Given the description of an element on the screen output the (x, y) to click on. 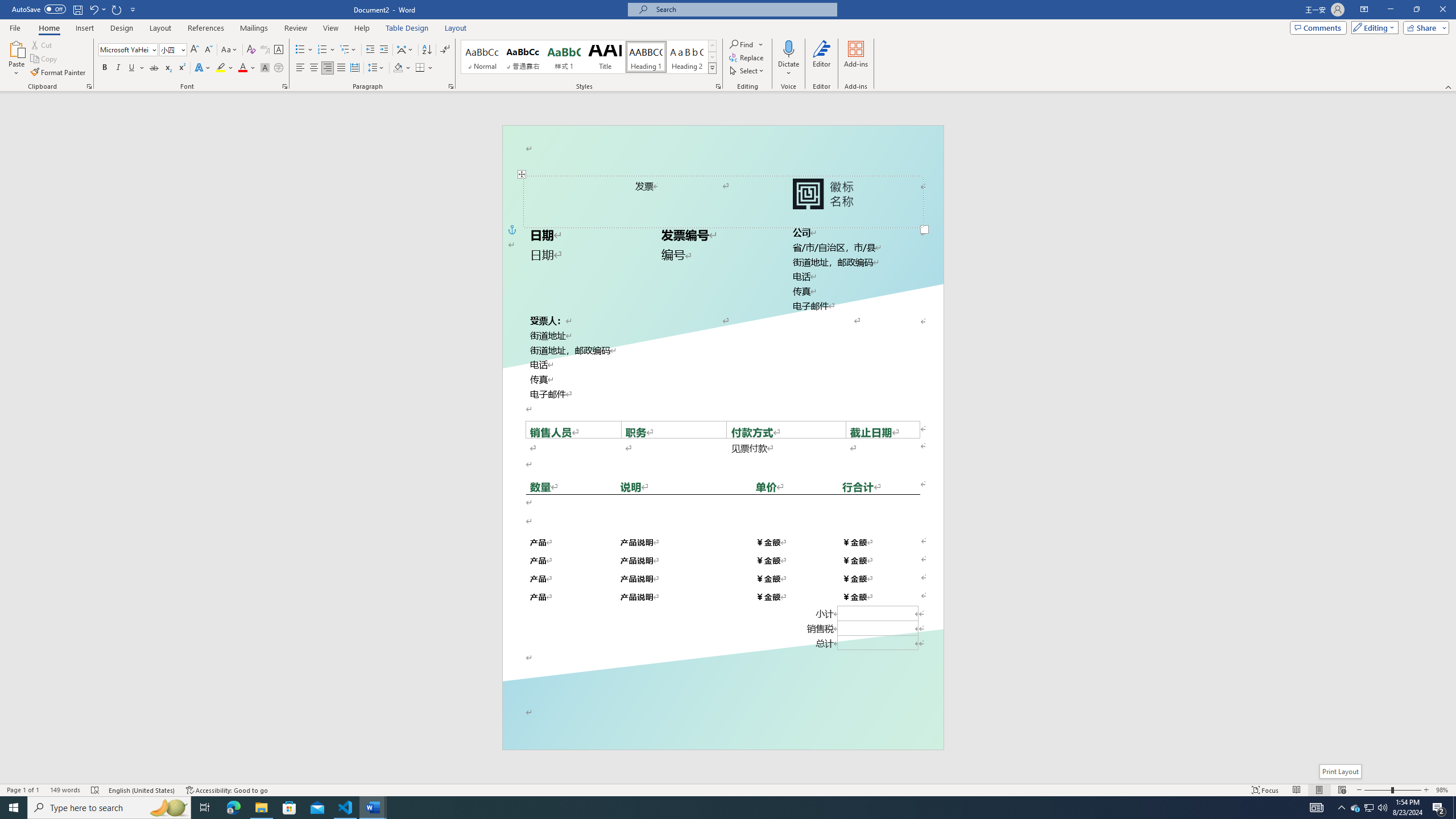
Text Highlight Color Yellow (220, 67)
Class: NetUIScrollBar (1450, 437)
Office Clipboard... (88, 85)
Line and Paragraph Spacing (376, 67)
Font Color (246, 67)
Font Color RGB(255, 0, 0) (241, 67)
Text Effects and Typography (202, 67)
Distributed (354, 67)
Shading RGB(0, 0, 0) (397, 67)
Enclose Characters... (278, 67)
Zoom (1392, 790)
